Given the description of an element on the screen output the (x, y) to click on. 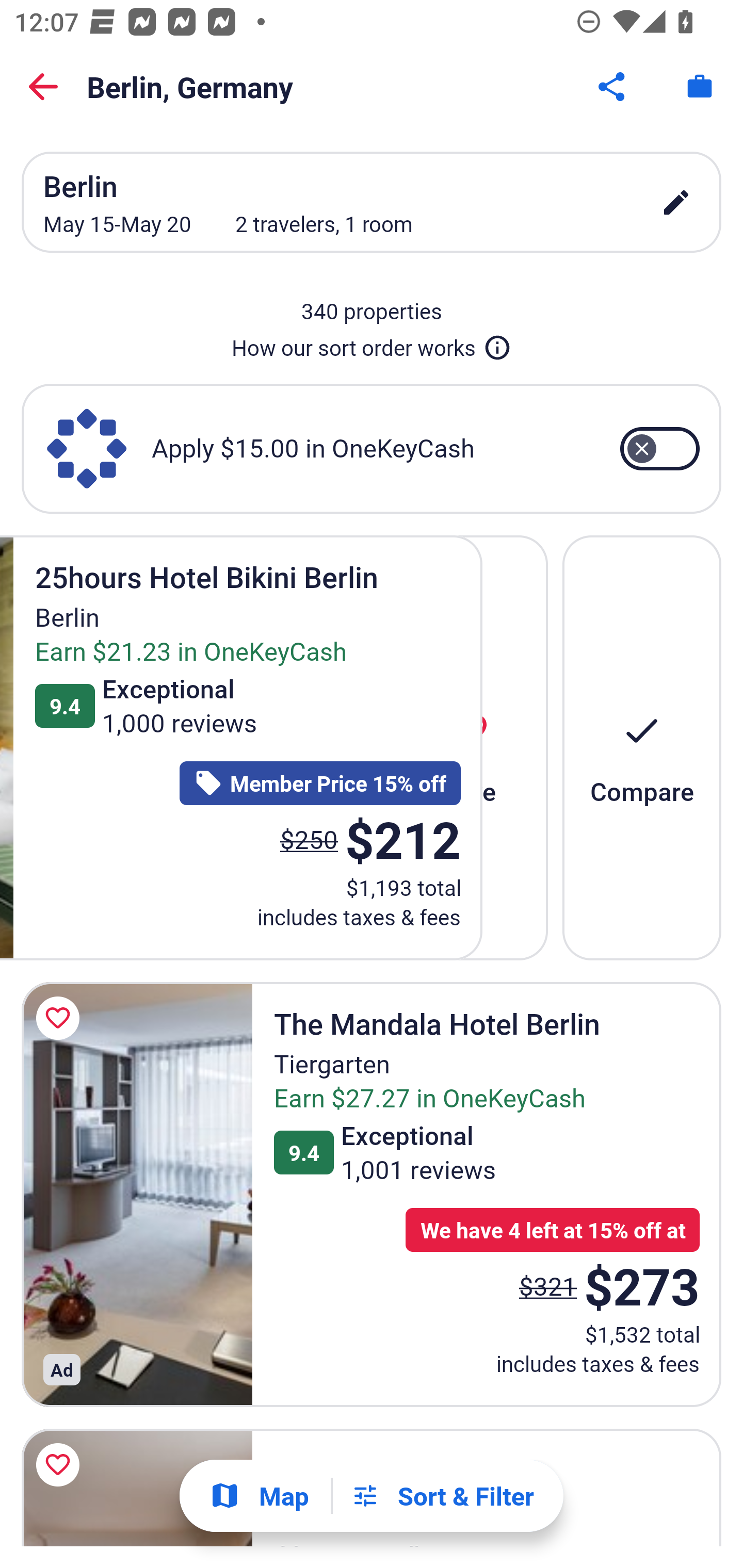
Back (43, 86)
Share Button (612, 86)
Trips. Button (699, 86)
Berlin May 15-May 20 2 travelers, 1 room edit (371, 202)
How our sort order works (371, 344)
Compare (641, 746)
$250 The price was $250 (308, 839)
Save The Mandala Hotel Berlin to a trip (61, 1018)
The Mandala Hotel Berlin (136, 1193)
$321 The price was $321 (547, 1285)
Save Hotel Palace Berlin to a trip (61, 1465)
Filters Sort & Filter Filters Button (442, 1495)
Show map Map Show map Button (258, 1495)
